Given the description of an element on the screen output the (x, y) to click on. 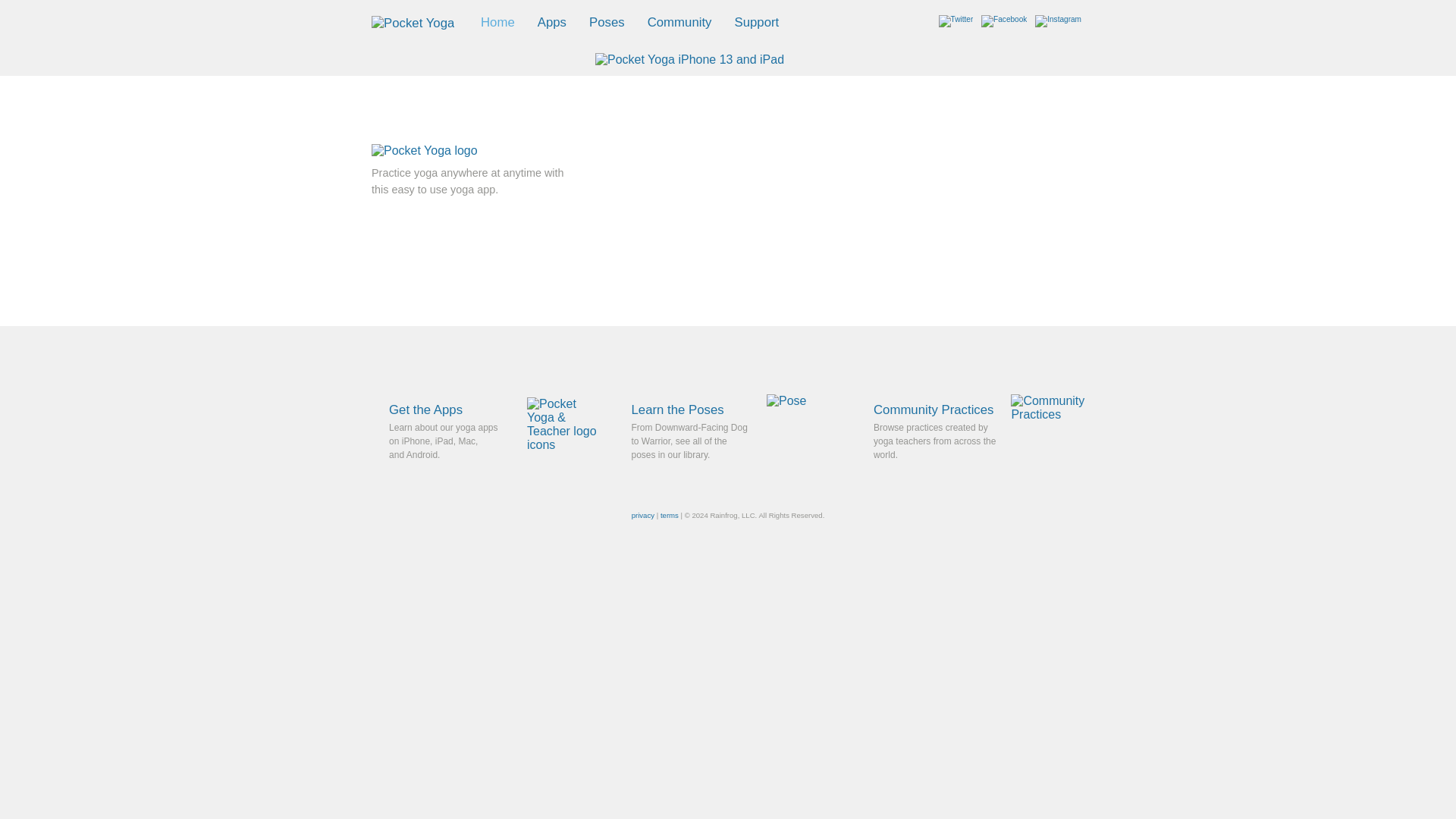
privacy (642, 515)
terms (669, 515)
Apps (551, 22)
Support (755, 22)
Community (679, 22)
Home (497, 22)
Poses (606, 22)
